Given the description of an element on the screen output the (x, y) to click on. 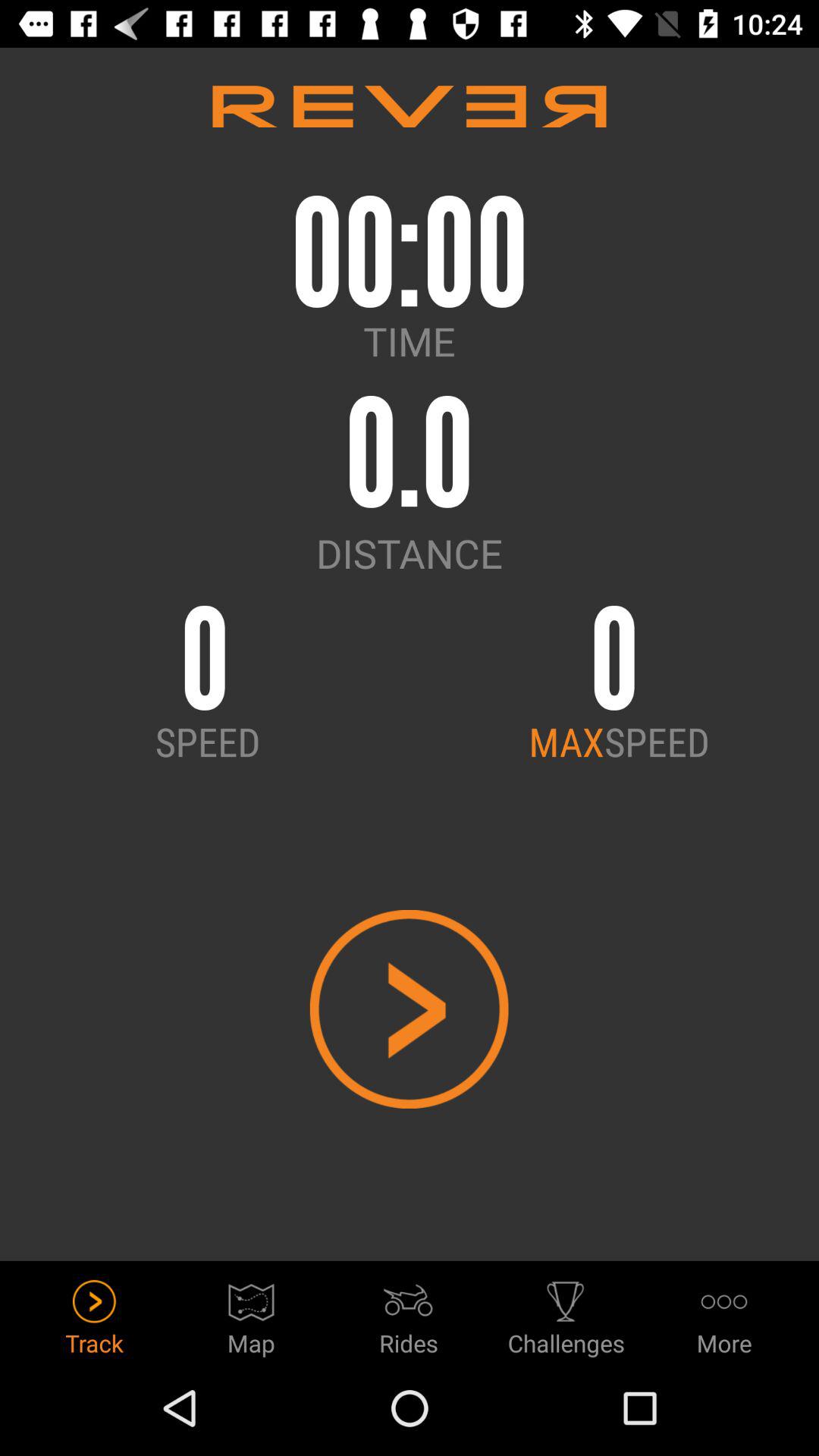
turn off the icon to the left of the more icon (566, 1313)
